Given the description of an element on the screen output the (x, y) to click on. 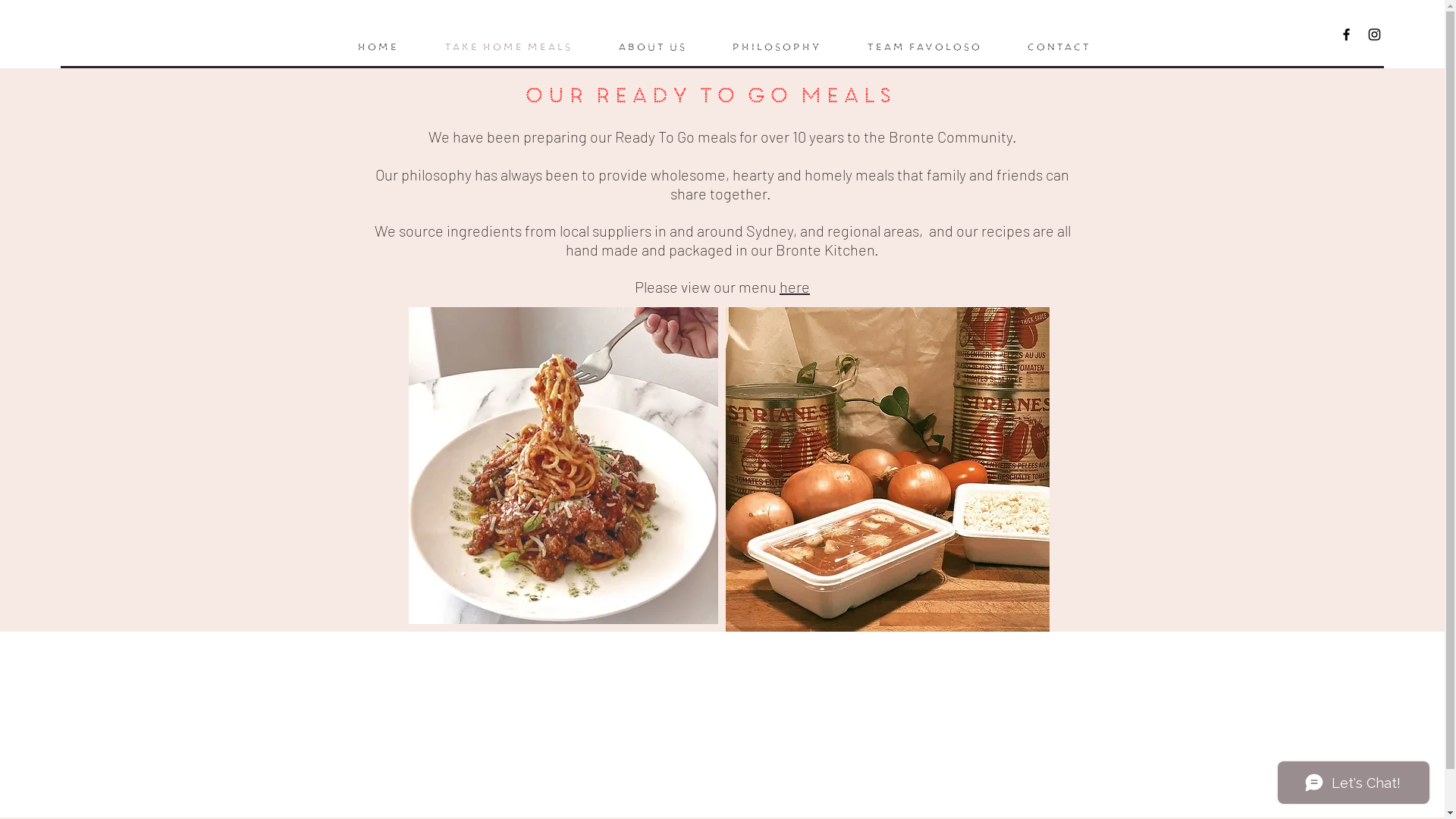
PHILOSOPHY Element type: text (775, 46)
TEAM FAVOLOSO Element type: text (923, 46)
HOME Element type: text (376, 46)
CONTACT Element type: text (1056, 46)
TAKE HOME MEALS Element type: text (506, 46)
ABOUT US Element type: text (651, 46)
here Element type: text (794, 286)
